Given the description of an element on the screen output the (x, y) to click on. 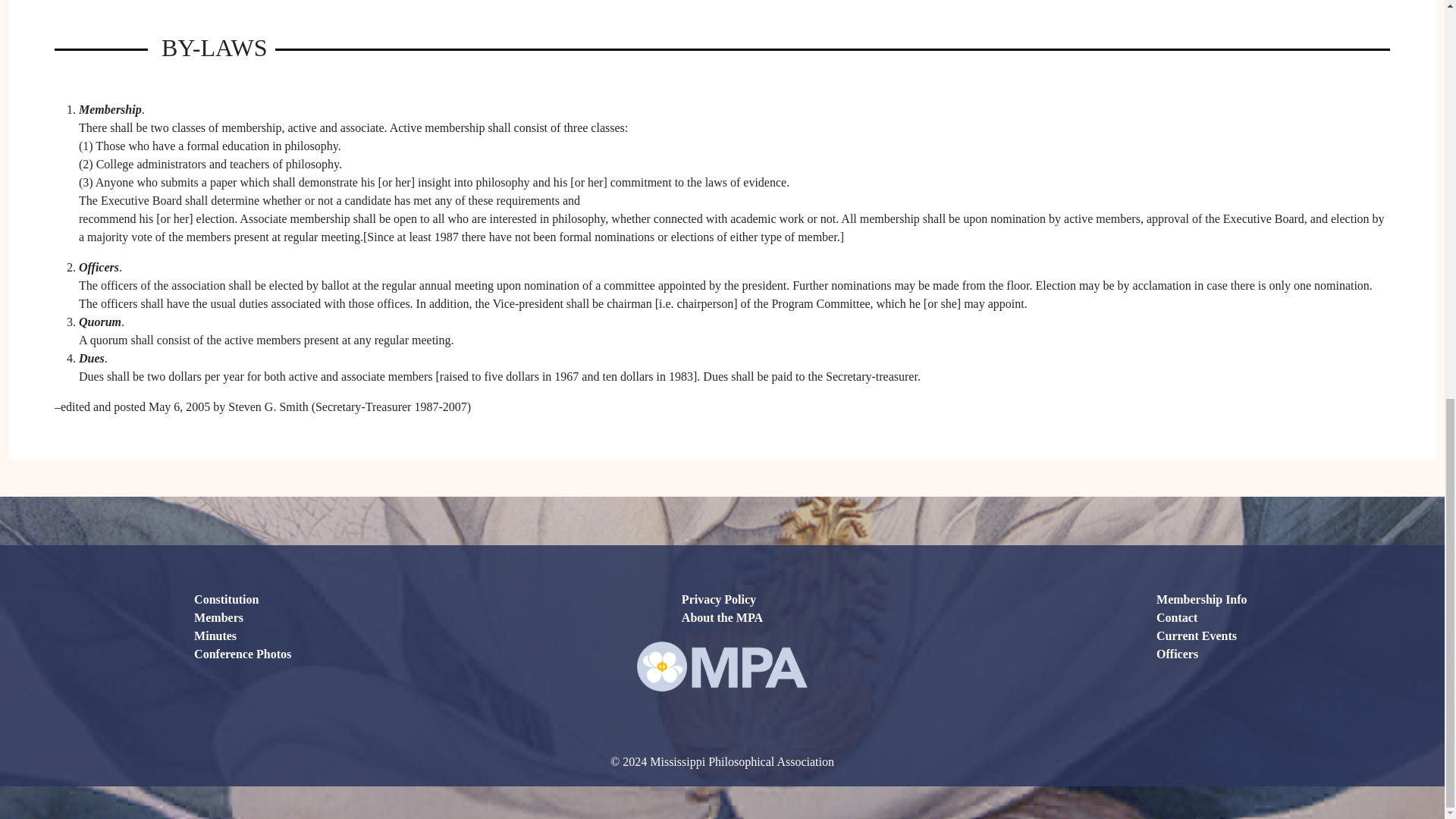
Membership Info (1201, 599)
Current Events (1196, 635)
Members (218, 617)
Constitution (226, 599)
Officers (1177, 653)
About the MPA (721, 617)
Privacy Policy (718, 599)
Contact (1176, 617)
Minutes (214, 635)
Conference Photos (242, 653)
